Given the description of an element on the screen output the (x, y) to click on. 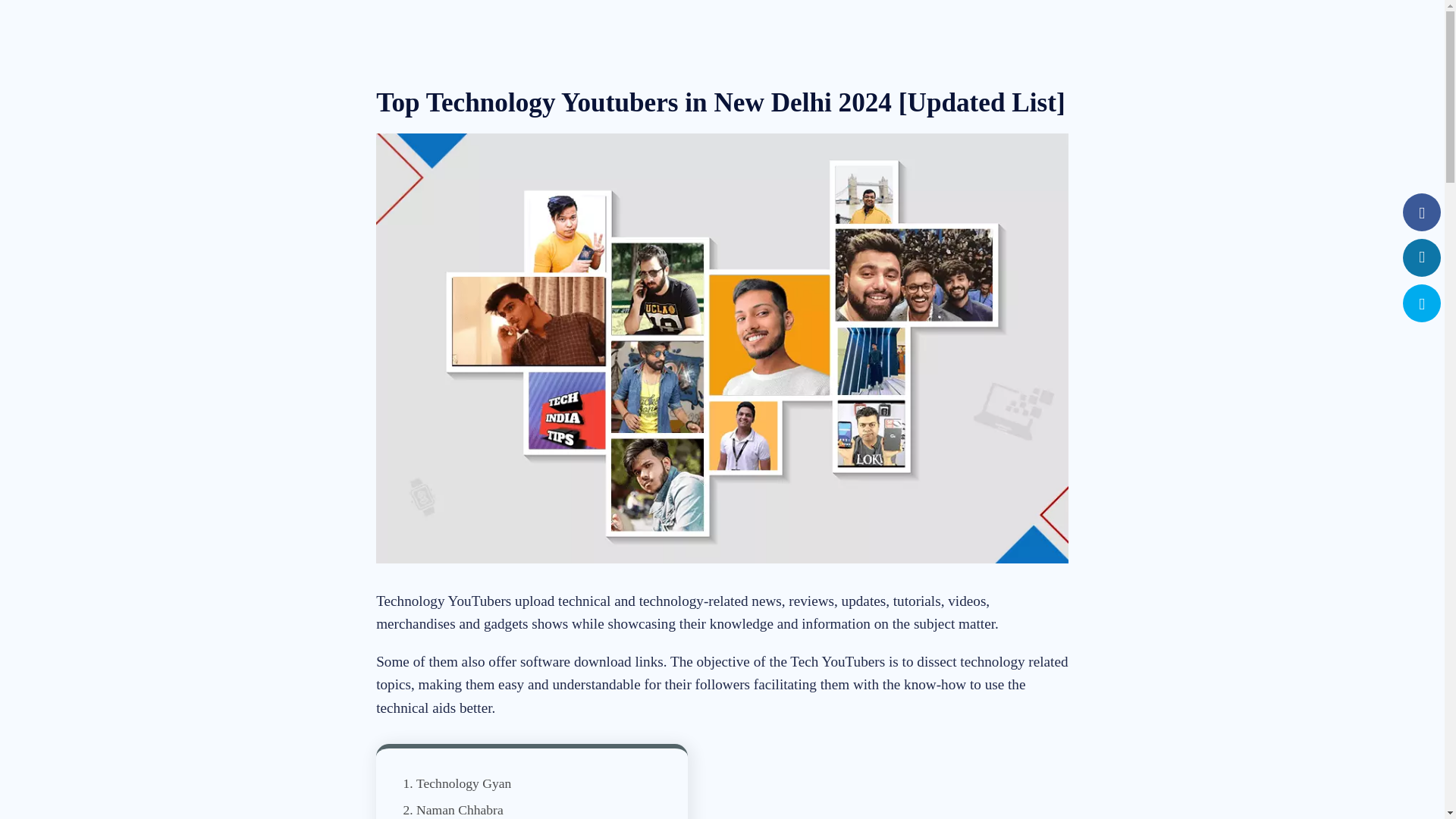
Naman Chhabra (459, 809)
Technology Gyan (463, 783)
Share on Linkedin (1422, 258)
Share on Facebook (1422, 214)
Share on Twitter (1422, 306)
